Given the description of an element on the screen output the (x, y) to click on. 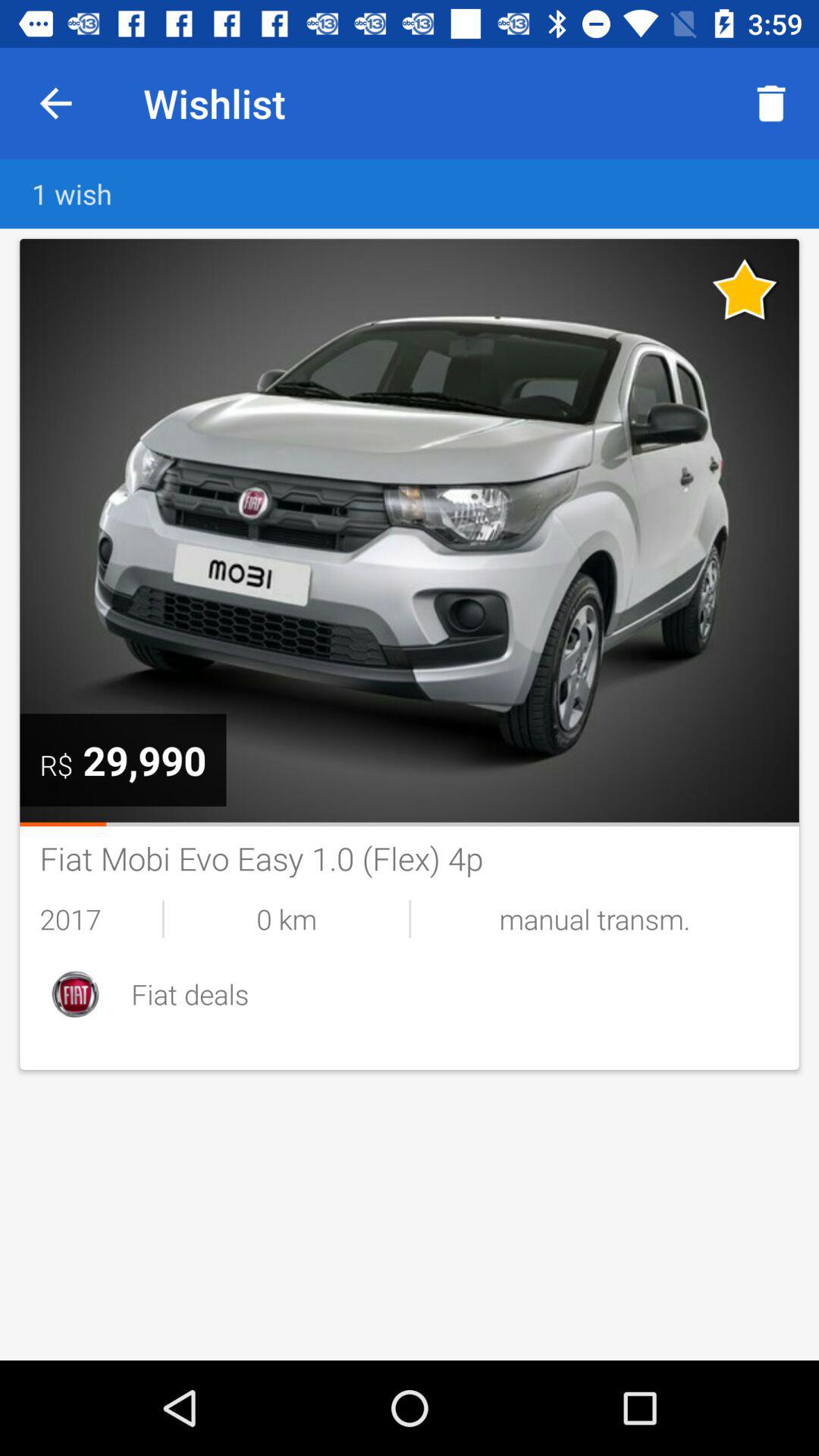
choose the item below the fiat mobi evo item (100, 918)
